Given the description of an element on the screen output the (x, y) to click on. 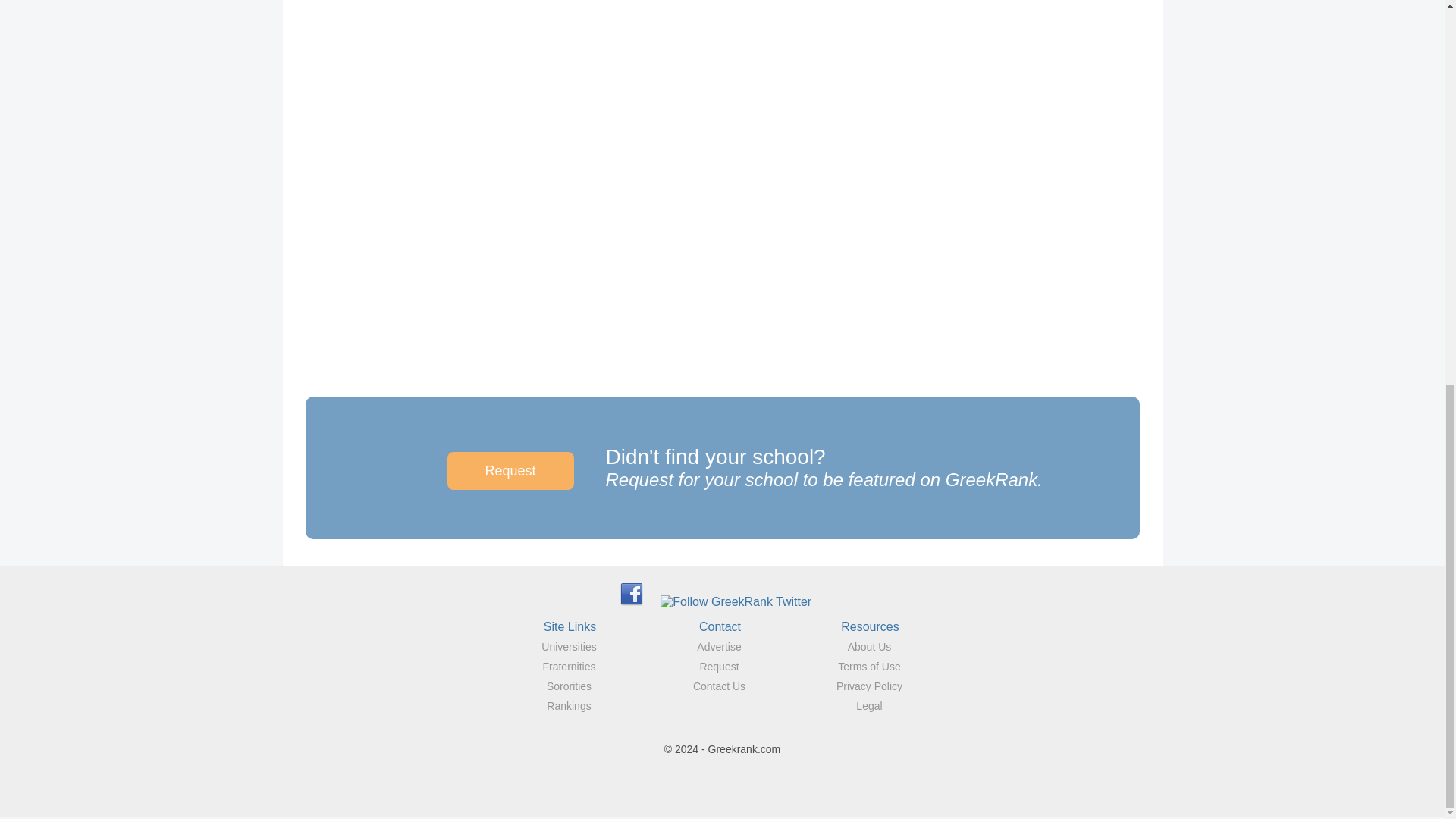
Contact Us (719, 686)
Universities (568, 646)
Follow GreekRank Facebook (631, 593)
Request (718, 666)
About Us (869, 646)
Follow GreekRank Twitter (735, 602)
Rankings (569, 705)
Sororities (569, 686)
Request (509, 470)
Advertise (719, 646)
Fraternities (568, 666)
